Given the description of an element on the screen output the (x, y) to click on. 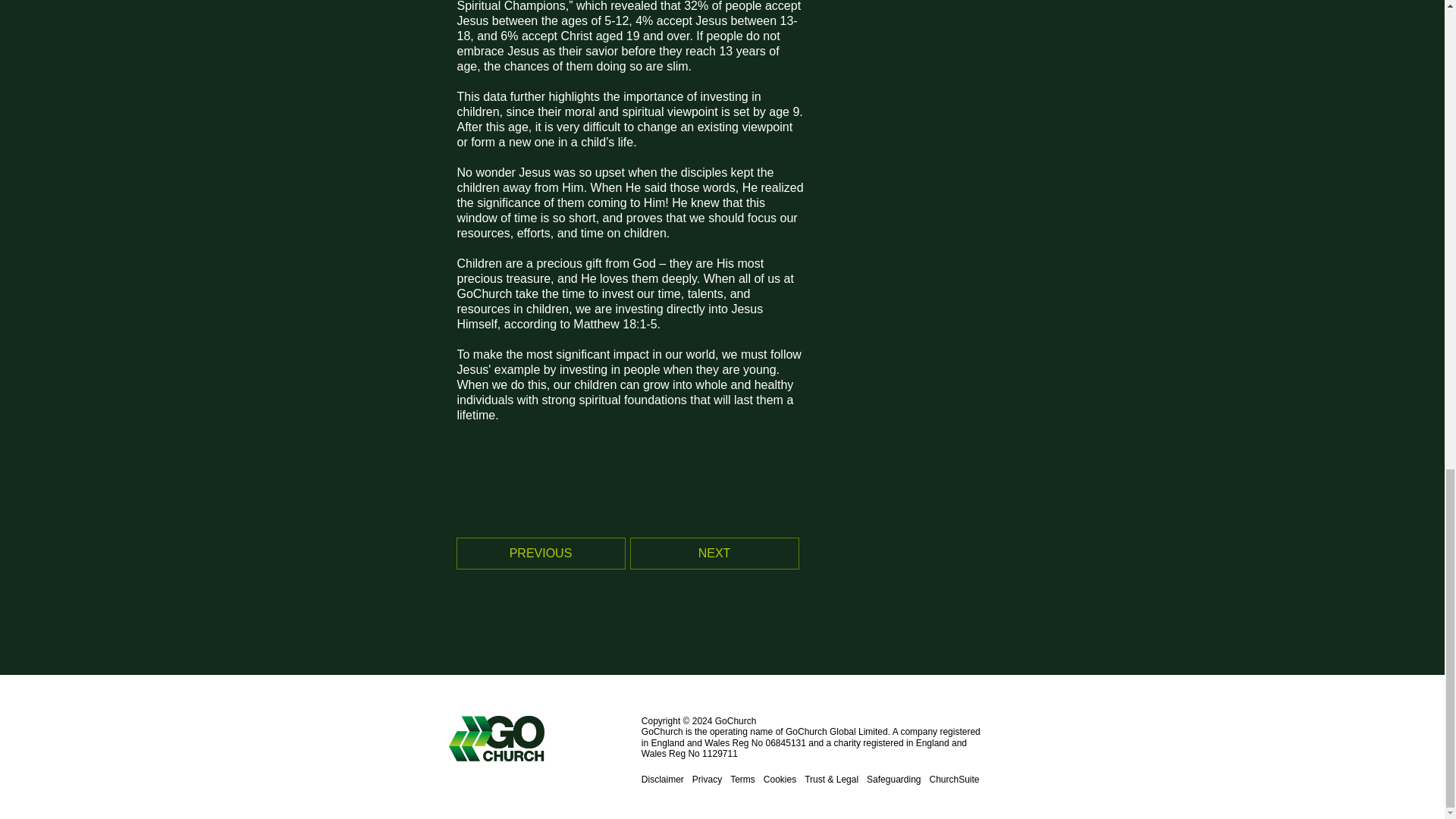
GoChurch logo (545, 738)
NEXT (713, 553)
ChurchSuite (953, 778)
PREVIOUS (540, 553)
Cookies (779, 778)
Terms (742, 778)
Safeguarding (893, 778)
Disclaimer (663, 778)
Privacy (707, 778)
